Given the description of an element on the screen output the (x, y) to click on. 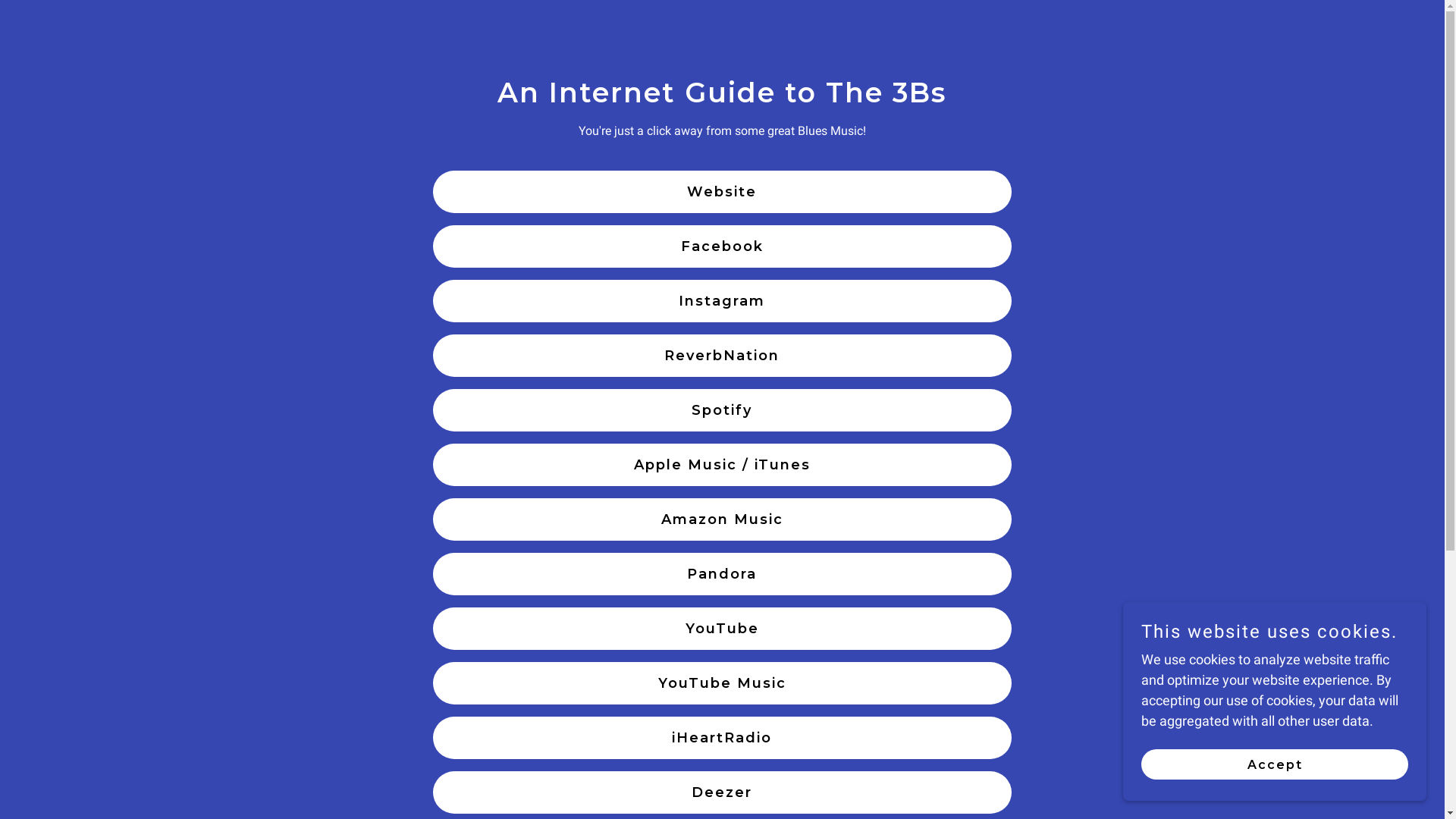
Pandora Element type: text (722, 573)
Apple Music / iTunes Element type: text (722, 464)
ReverbNation Element type: text (722, 355)
Deezer Element type: text (722, 792)
Website Element type: text (722, 191)
Accept Element type: text (1274, 764)
YouTube Element type: text (722, 628)
Facebook Element type: text (722, 246)
Instagram Element type: text (722, 300)
iHeartRadio Element type: text (722, 737)
YouTube Music Element type: text (722, 683)
Amazon Music Element type: text (722, 519)
Spotify Element type: text (722, 410)
